Given the description of an element on the screen output the (x, y) to click on. 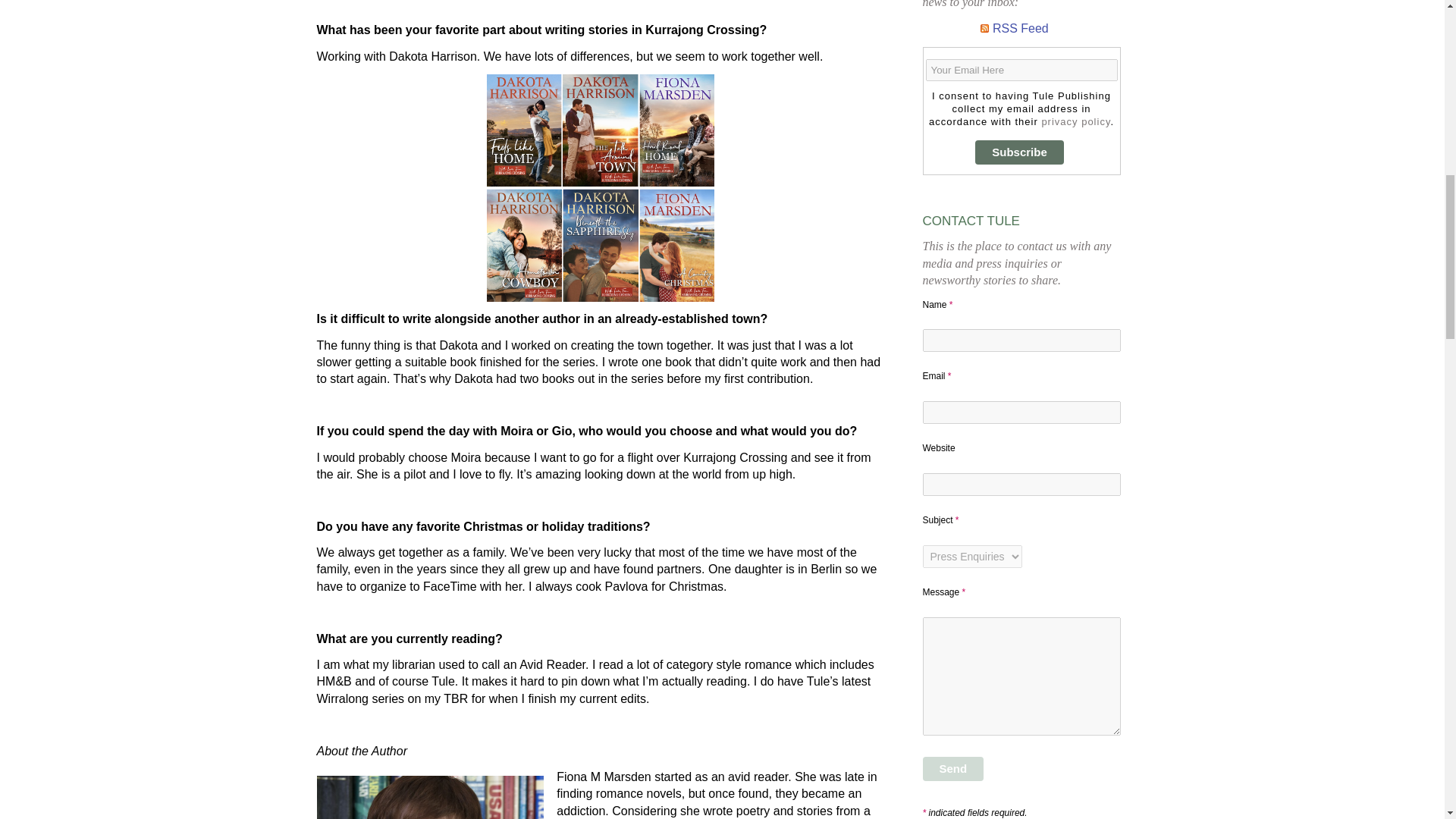
Send (952, 768)
Subscribe (1019, 152)
Tule Publishing Site News (1020, 28)
Your Email Here (1020, 69)
